Given the description of an element on the screen output the (x, y) to click on. 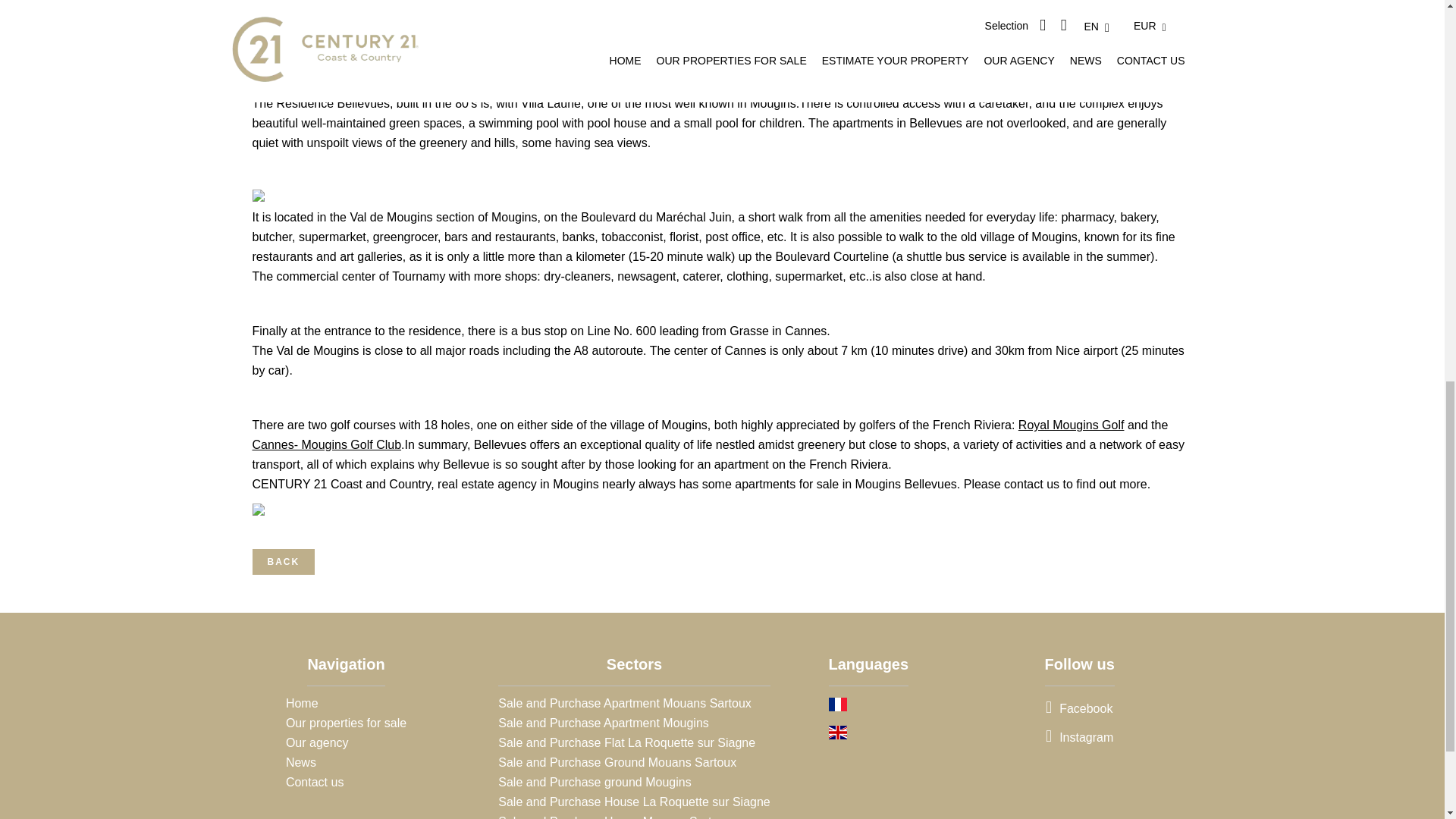
News (300, 762)
Home (301, 703)
Our agency (317, 742)
Royal Mougins Golf (1070, 424)
Mougins (514, 216)
BACK (282, 560)
Instagram (1079, 737)
Facebook (1078, 707)
Our properties for sale (345, 722)
Cannes- Mougins Golf Club (326, 444)
Contact us (314, 781)
